Given the description of an element on the screen output the (x, y) to click on. 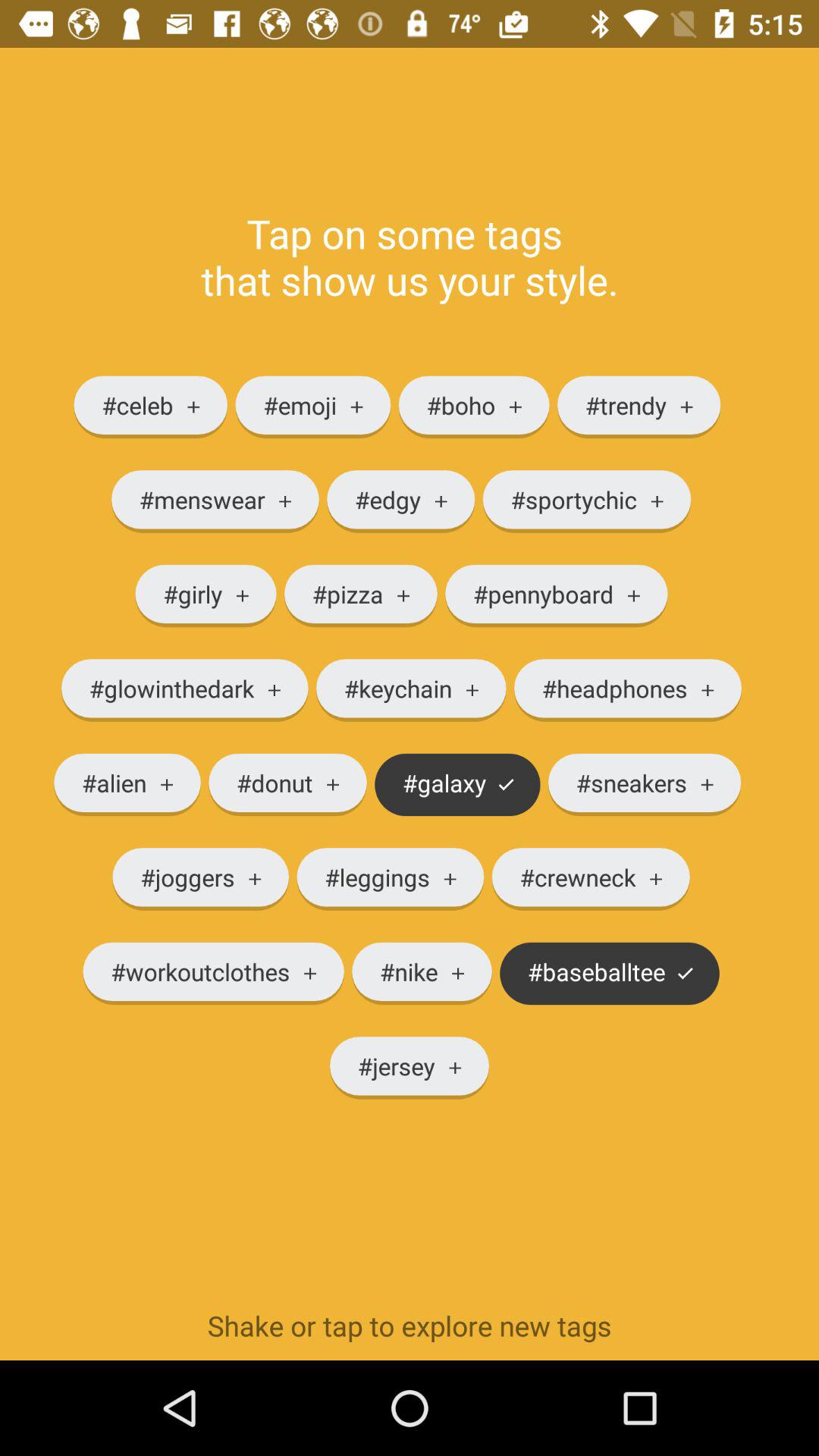
turn on shake or tap icon (409, 1325)
